Given the description of an element on the screen output the (x, y) to click on. 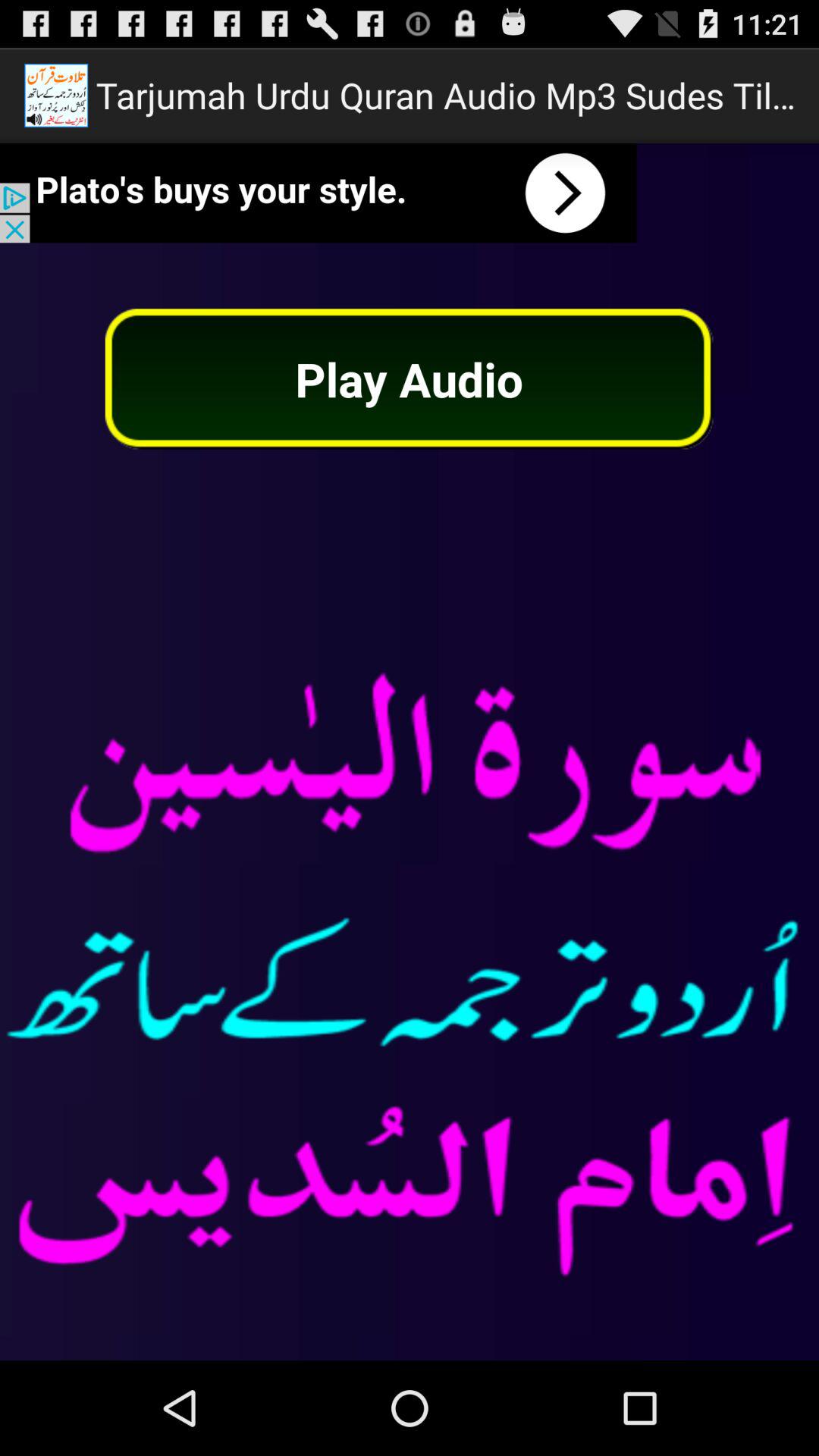
go to next (318, 192)
